Given the description of an element on the screen output the (x, y) to click on. 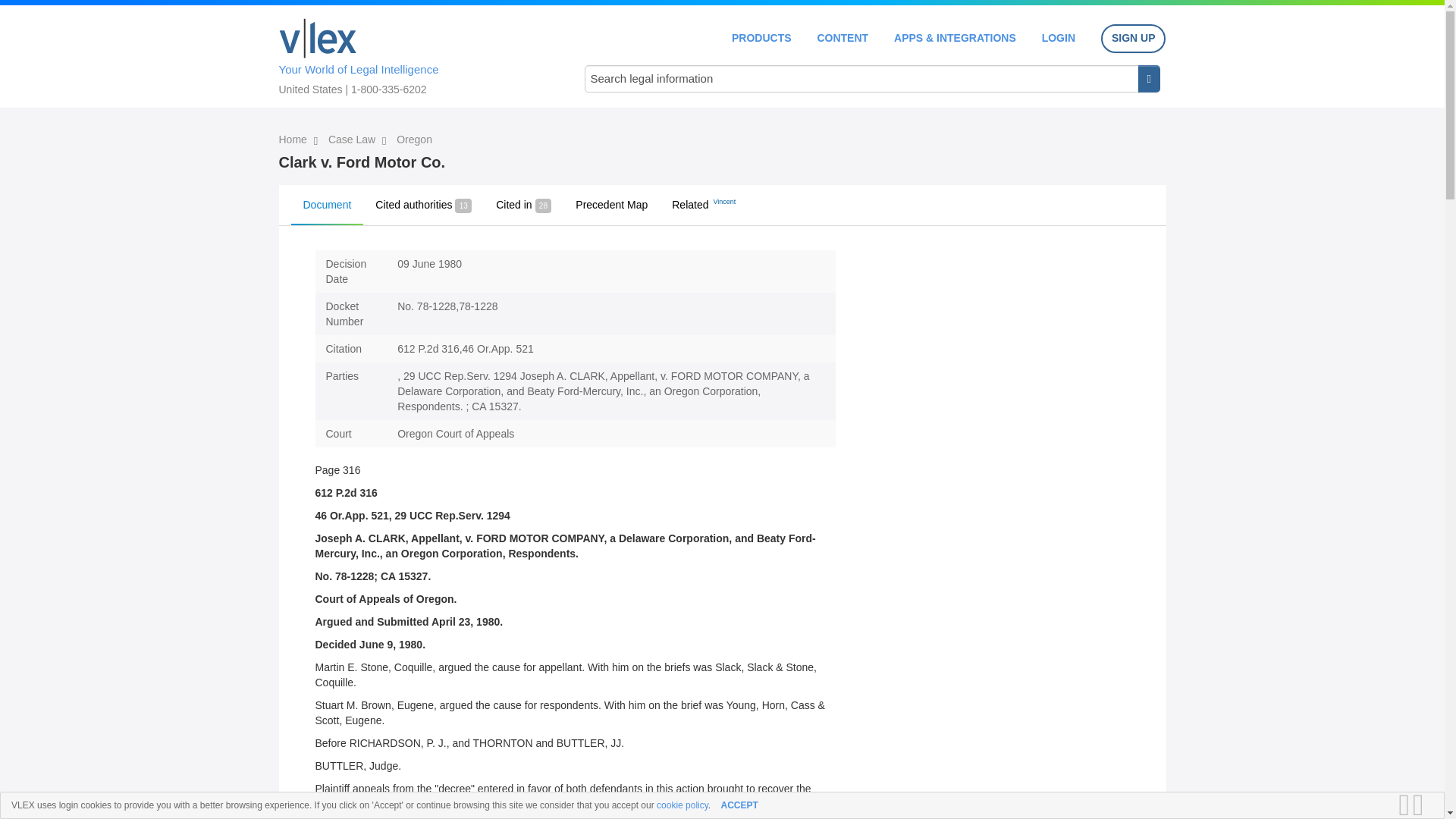
PRODUCTS (762, 37)
SIGN UP (1133, 38)
Case Law (353, 139)
Oregon (414, 139)
Your World of Legal Intelligence (416, 53)
Home (317, 38)
CONTENT (841, 37)
LOGIN (1058, 37)
Home (294, 139)
